Given the description of an element on the screen output the (x, y) to click on. 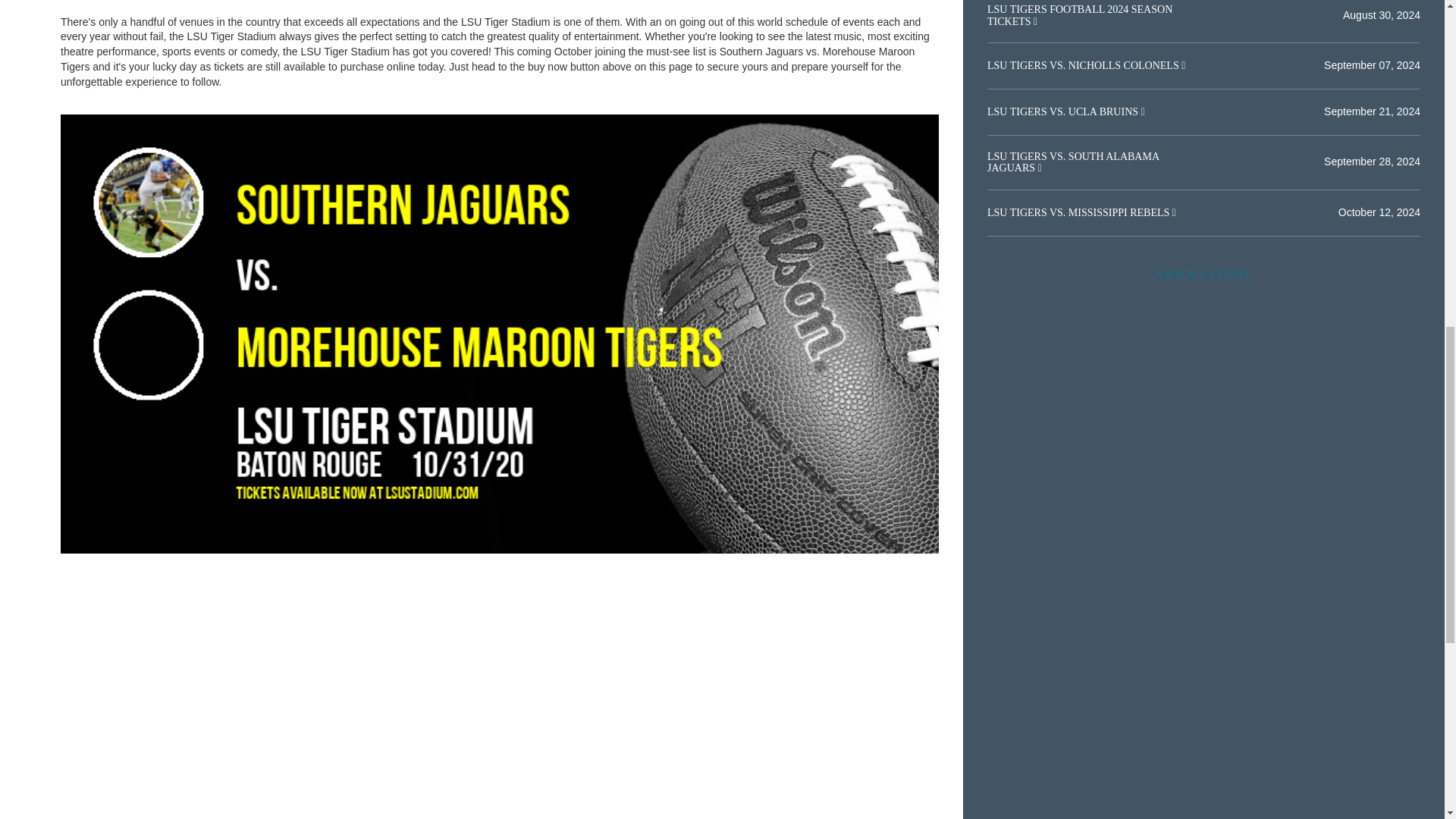
VIEW ALL EVENTS (1203, 275)
LSU TIGERS FOOTBALL 2024 SEASON TICKETS (1079, 15)
